Given the description of an element on the screen output the (x, y) to click on. 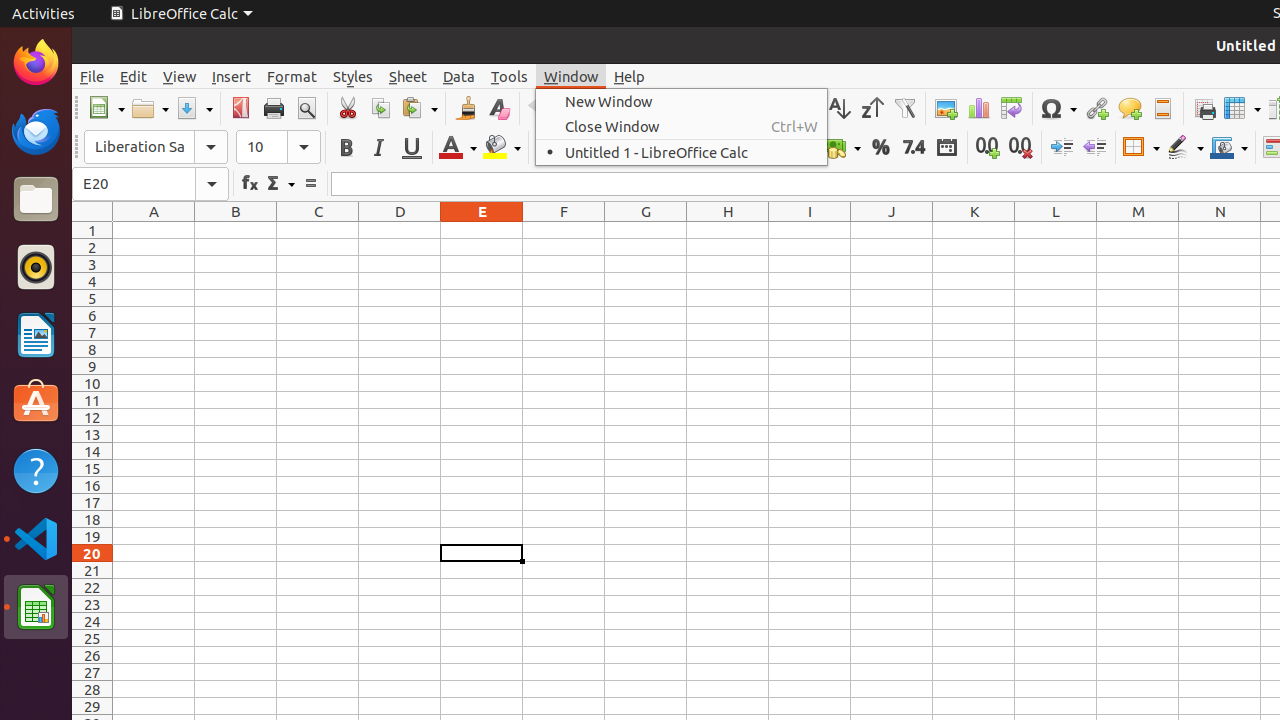
J1 Element type: table-cell (892, 230)
Insert Element type: menu (231, 76)
Delete Decimal Place Element type: push-button (1020, 147)
M1 Element type: table-cell (1138, 230)
Untitled 1 - LibreOffice Calc Element type: radio-menu-item (681, 152)
